Given the description of an element on the screen output the (x, y) to click on. 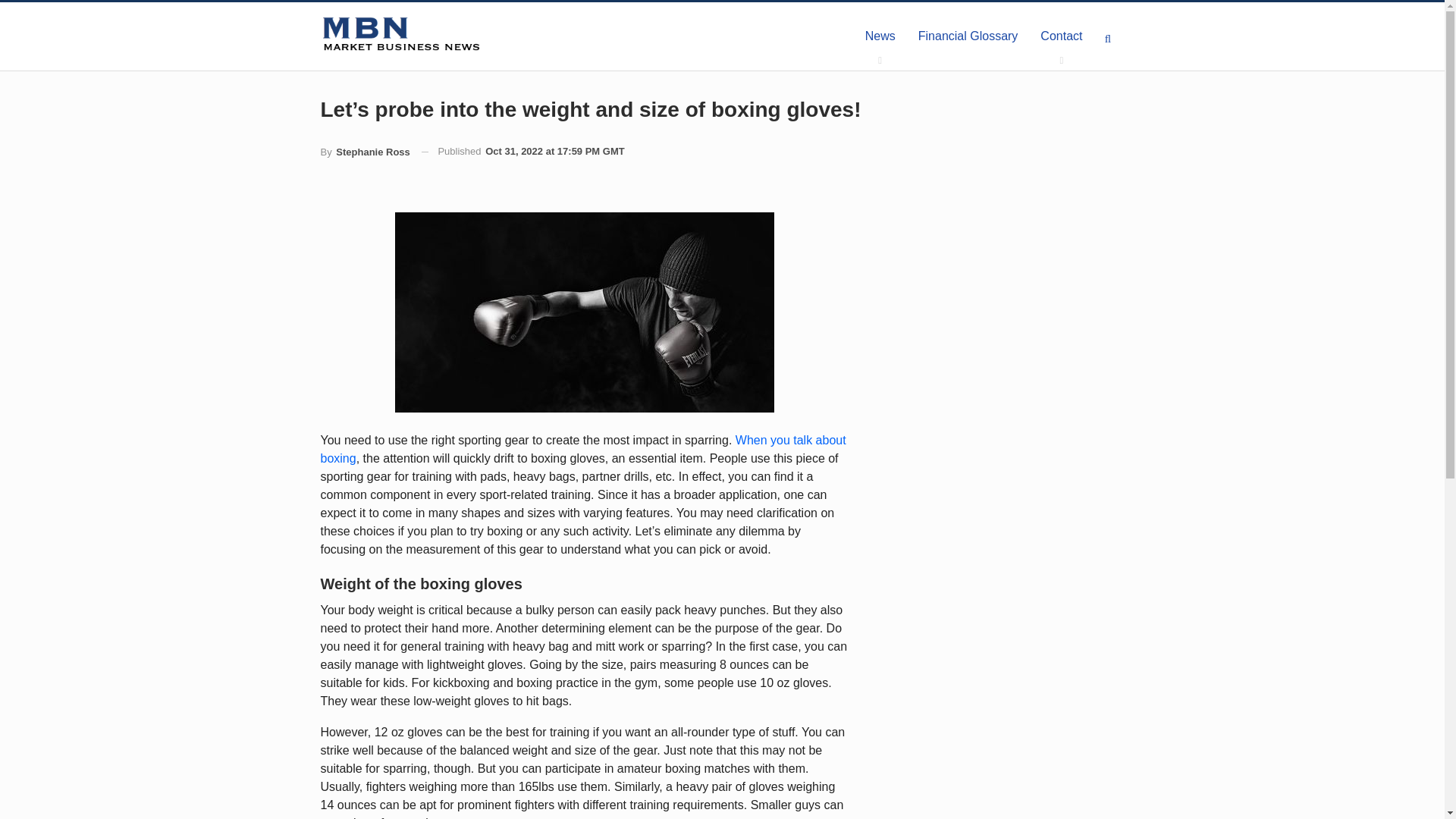
Browse Author Articles (364, 152)
By Stephanie Ross (364, 152)
Financial Glossary (968, 36)
Contact (1061, 36)
When you talk about boxing (582, 449)
